Given the description of an element on the screen output the (x, y) to click on. 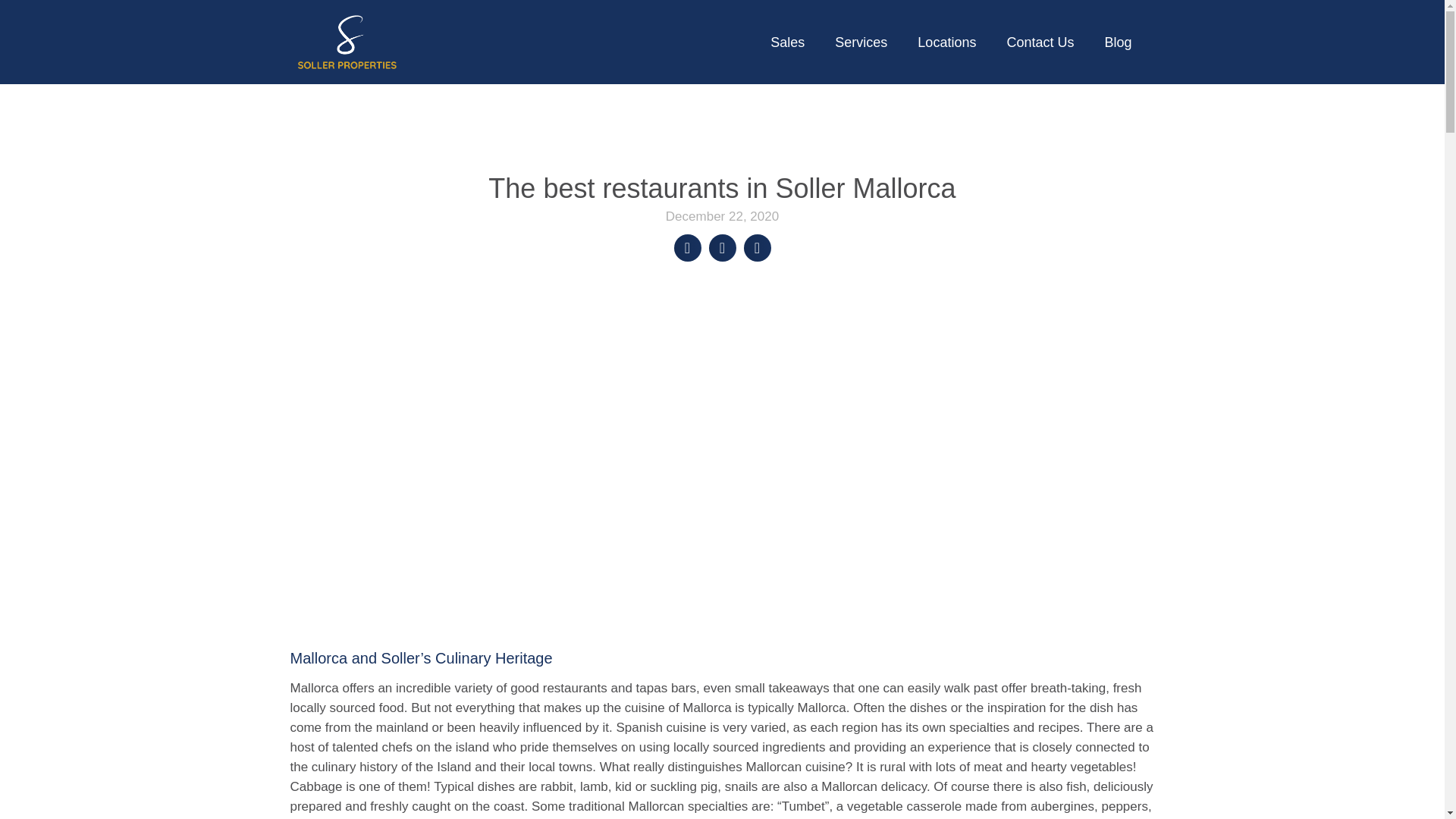
Locations (946, 42)
Sales (787, 42)
Contact Us (1040, 42)
Blog (1118, 42)
Services (860, 42)
